Given the description of an element on the screen output the (x, y) to click on. 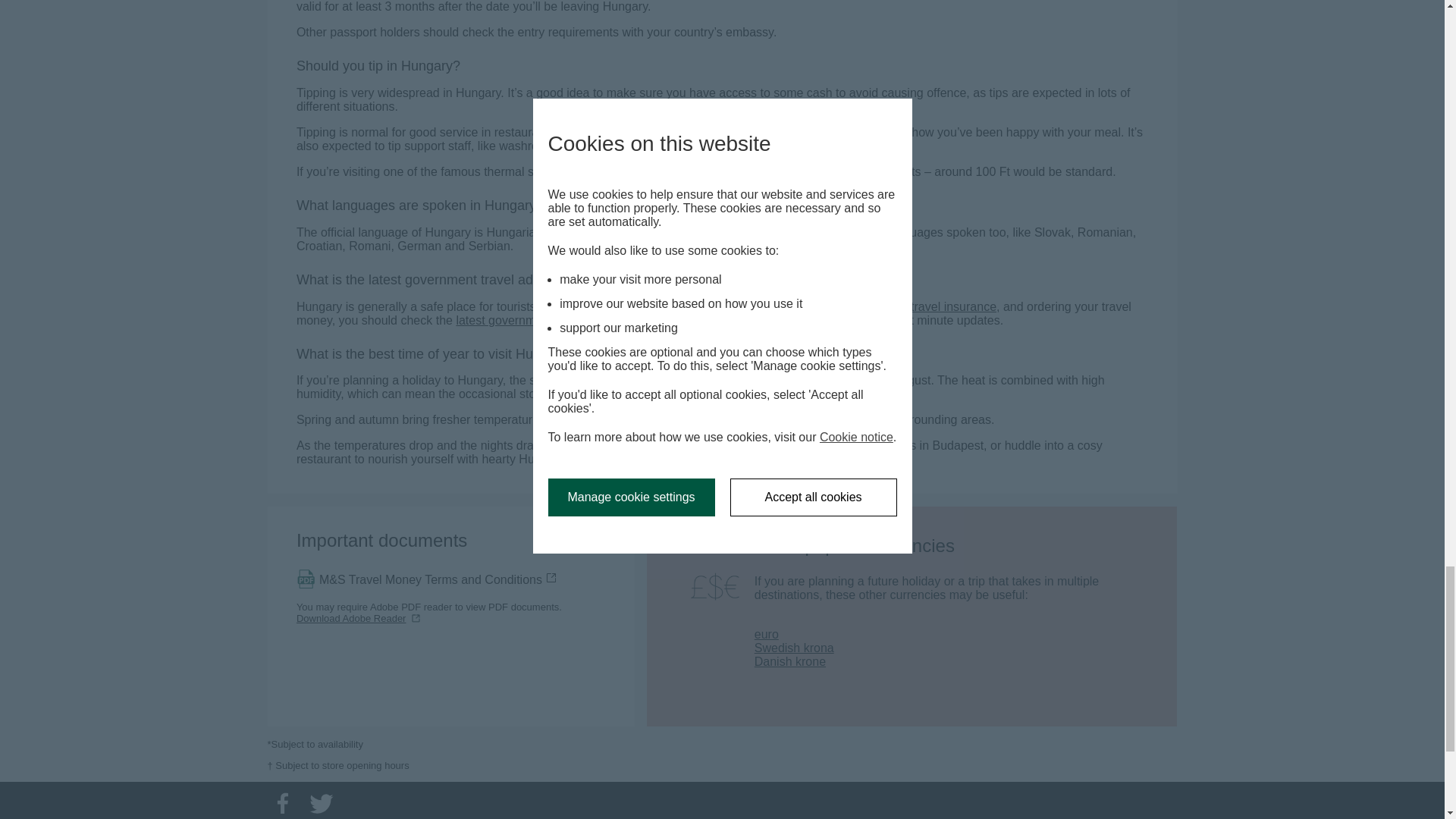
travel insurance (953, 306)
PDF Document (427, 578)
latest government travel advisory (552, 319)
